Given the description of an element on the screen output the (x, y) to click on. 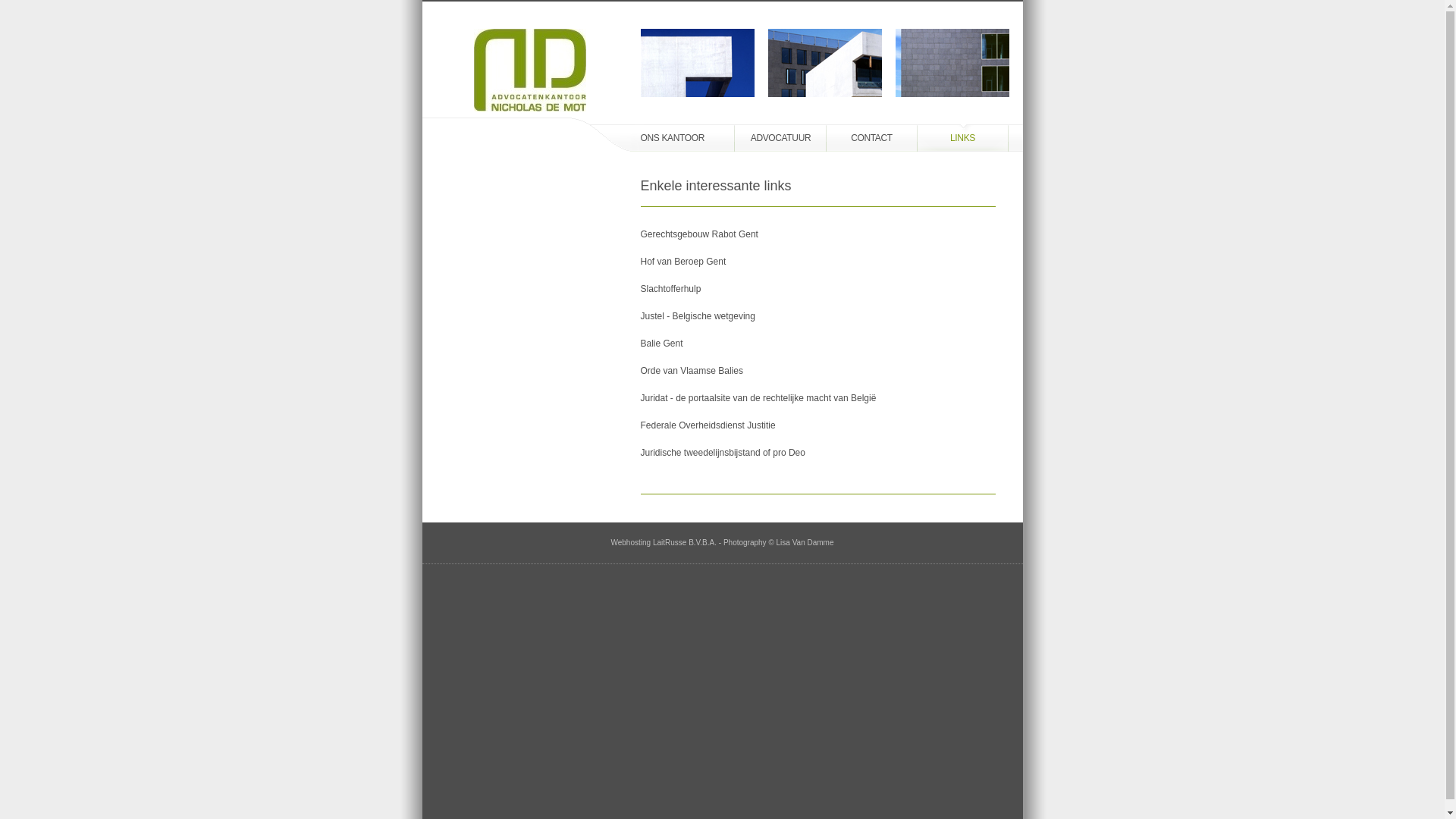
CONTACT Element type: text (871, 137)
Juridische tweedelijnsbijstand of pro Deo Element type: text (817, 452)
Gerechtsgebouw Rabot Gent Element type: text (817, 233)
LINKS Element type: text (962, 137)
Hof van Beroep Gent Element type: text (817, 261)
Orde van Vlaamse Balies Element type: text (817, 370)
ADVOCATUUR Element type: text (780, 137)
Federale Overheidsdienst Justitie Element type: text (817, 425)
Justel - Belgische wetgeving Element type: text (817, 315)
ONS KANTOOR Element type: text (661, 137)
Balie Gent Element type: text (817, 343)
Slachtofferhulp Element type: text (817, 288)
